Given the description of an element on the screen output the (x, y) to click on. 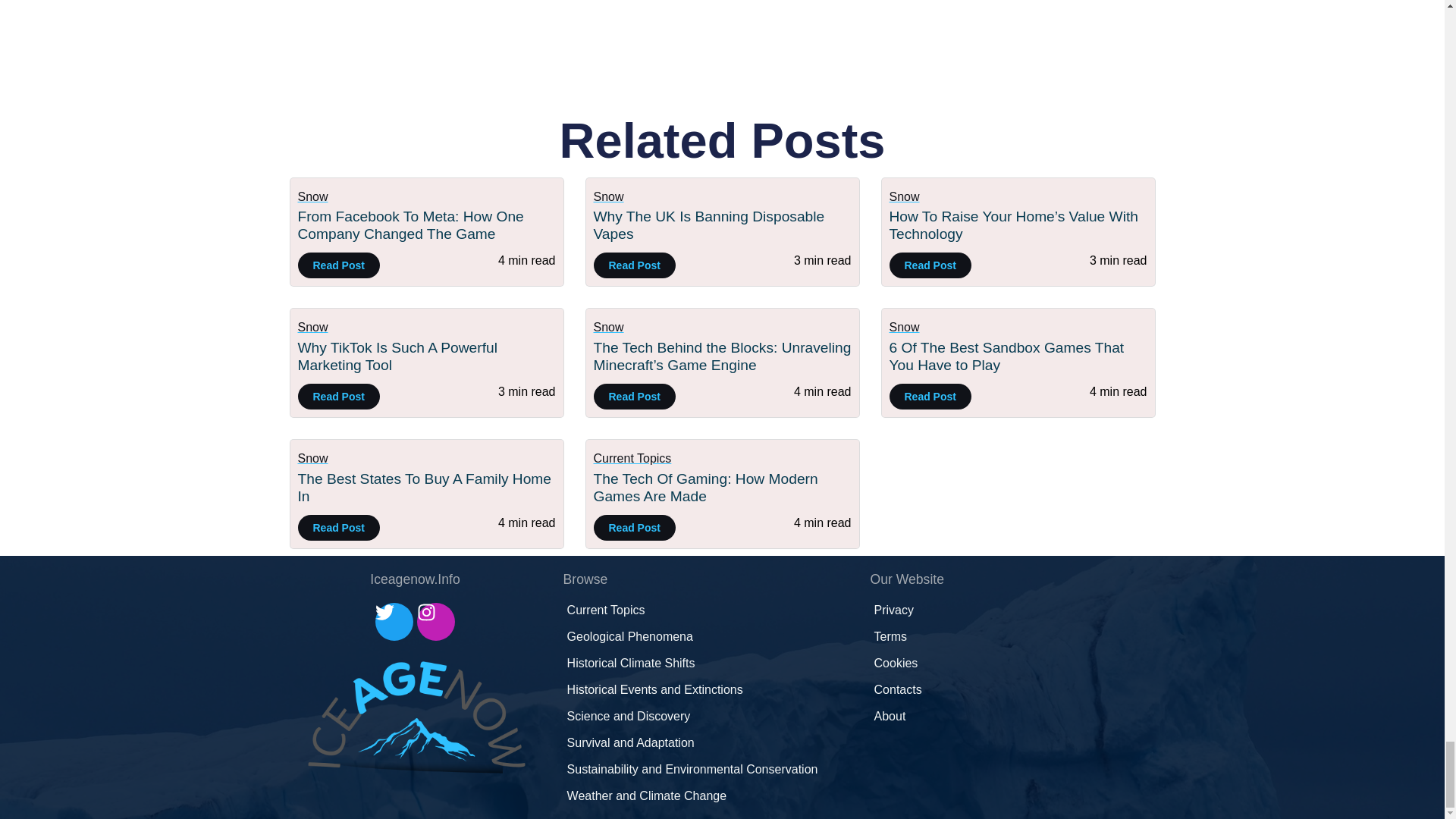
Snow (903, 196)
From Facebook To Meta: How One Company Changed The Game (409, 224)
Read Post (337, 265)
Why TikTok Is Such A Powerful Marketing Tool (396, 356)
Snow (312, 196)
Why The UK Is Banning Disposable Vapes (708, 224)
Snow (607, 196)
Read Post (633, 265)
Snow (312, 327)
Read Post (337, 396)
Read Post (929, 265)
Snow (607, 327)
